Given the description of an element on the screen output the (x, y) to click on. 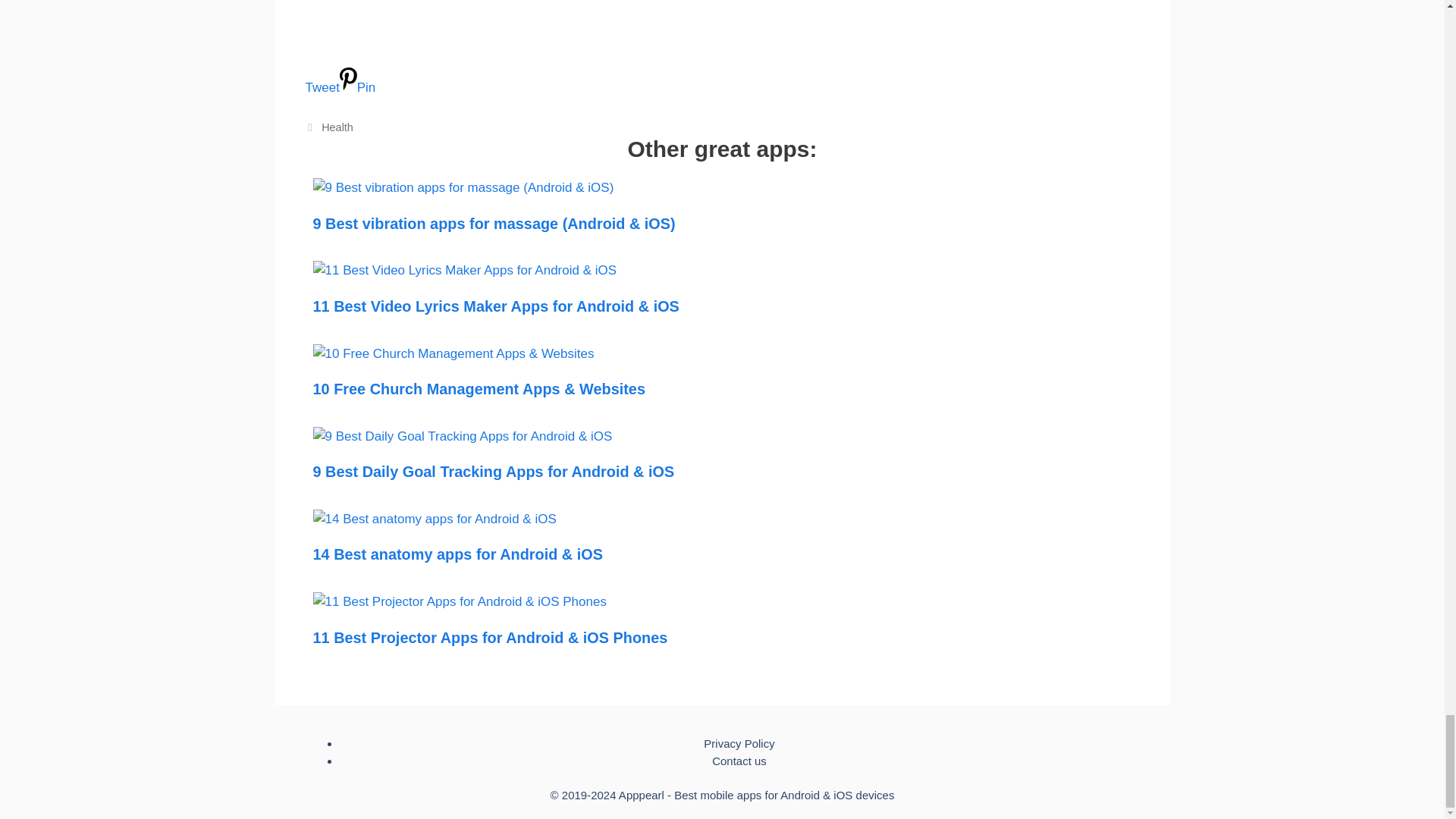
Share on Pinterest (357, 87)
Tweet (721, 72)
Pin (357, 87)
Health (337, 127)
Share on Twitter (721, 72)
